Given the description of an element on the screen output the (x, y) to click on. 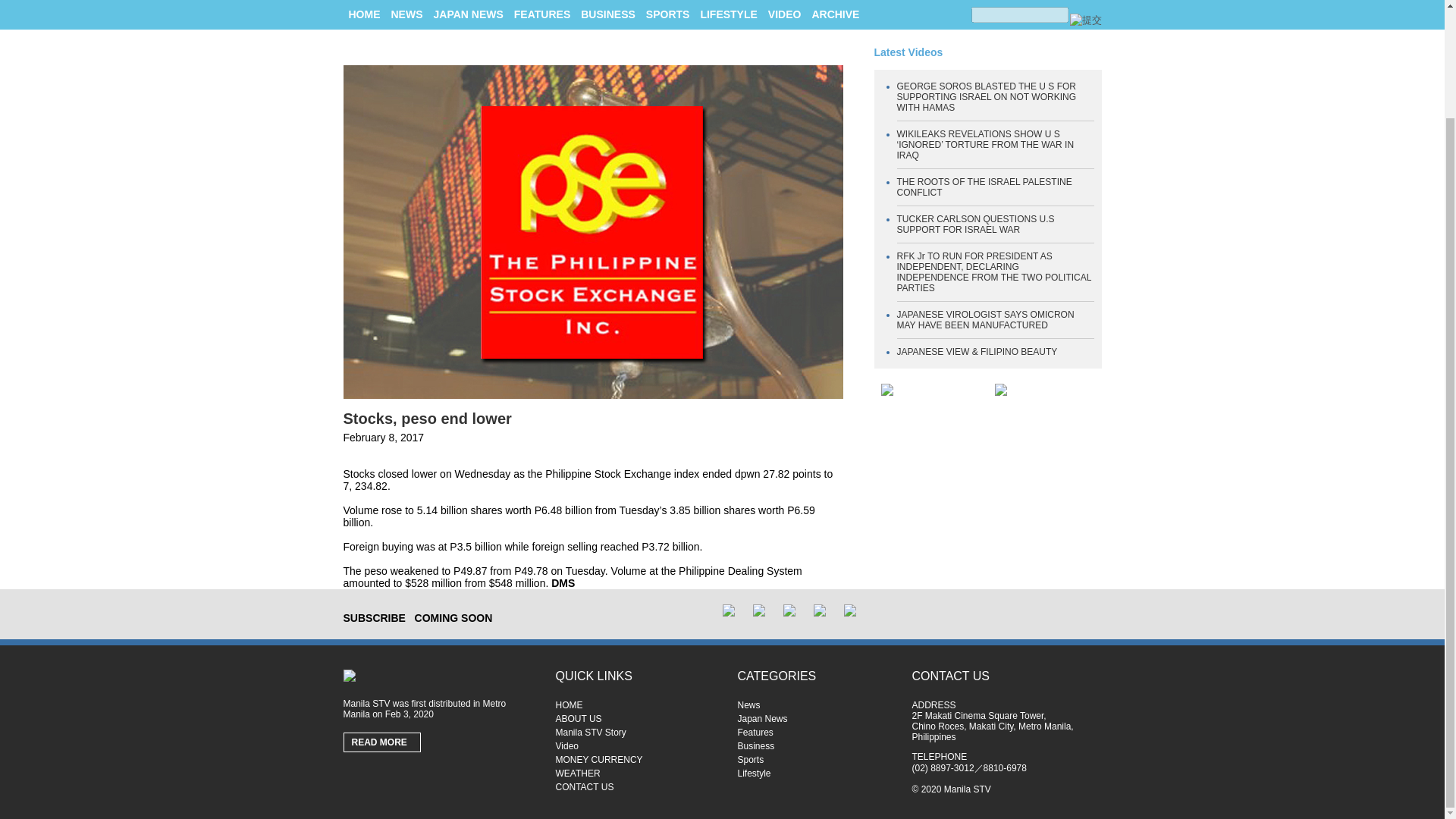
ARCHIVE (834, 14)
JAPAN NEWS (468, 14)
JAPANESE VIROLOGIST SAYS OMICRON MAY HAVE BEEN MANUFACTURED (985, 319)
CONTACT US (634, 787)
NEWS (407, 14)
Japan News (816, 718)
LIFESTYLE (728, 14)
HOME (634, 705)
READ MORE (382, 742)
FEATURES (541, 14)
Manila STV Story (634, 732)
THE ROOTS OF THE ISRAEL PALESTINE CONFLICT (983, 187)
TUCKER CARLSON QUESTIONS U.S SUPPORT FOR ISRAEL WAR (975, 224)
Video (634, 746)
